Given the description of an element on the screen output the (x, y) to click on. 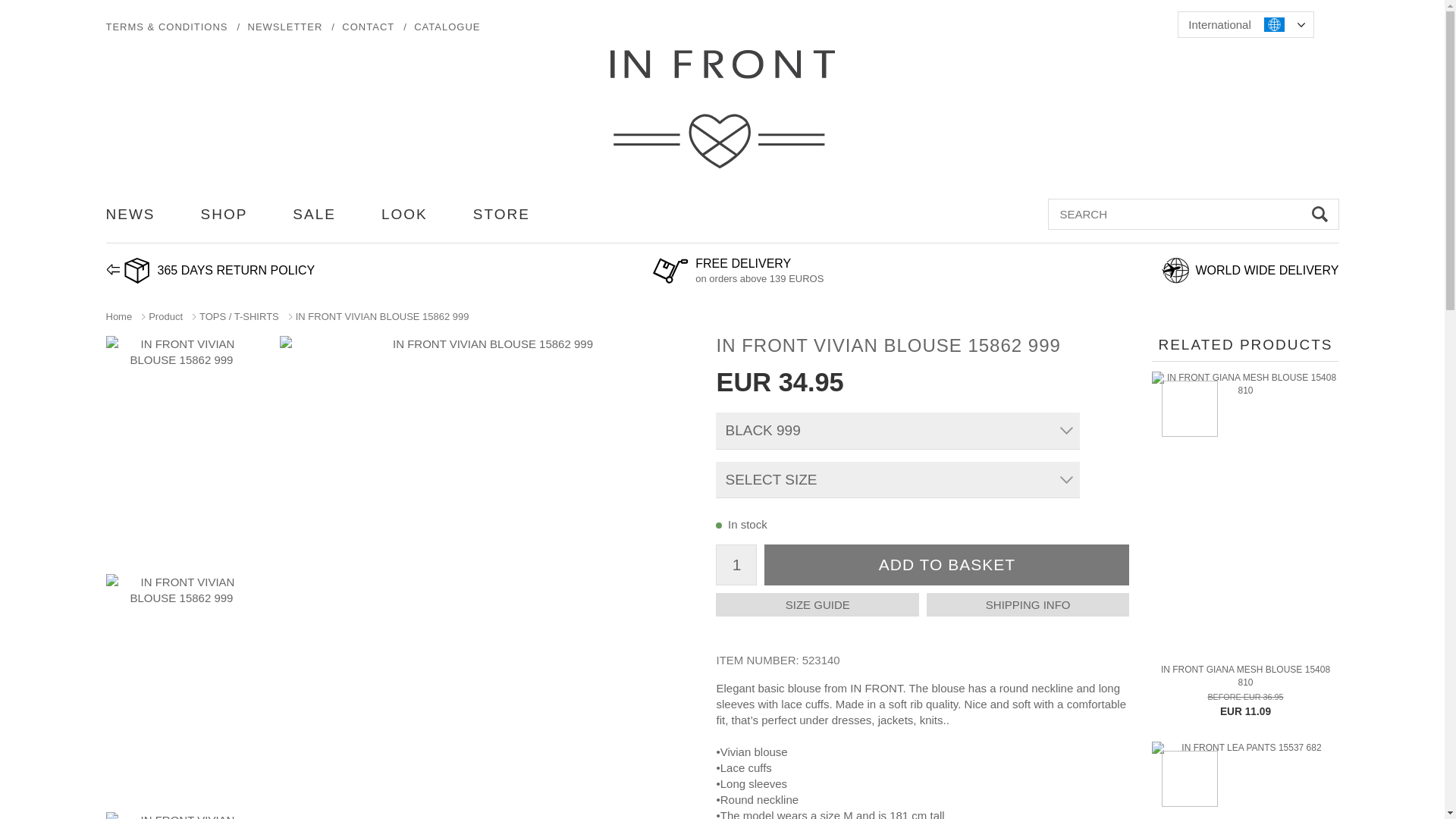
International (1245, 24)
Search (1319, 214)
Search (1319, 214)
NEWSLETTER (285, 26)
1 (736, 564)
LOOK (404, 214)
NEWS (130, 214)
SHOP (223, 214)
CATALOGUE (446, 26)
SALE (314, 214)
CONTACT (368, 26)
